Given the description of an element on the screen output the (x, y) to click on. 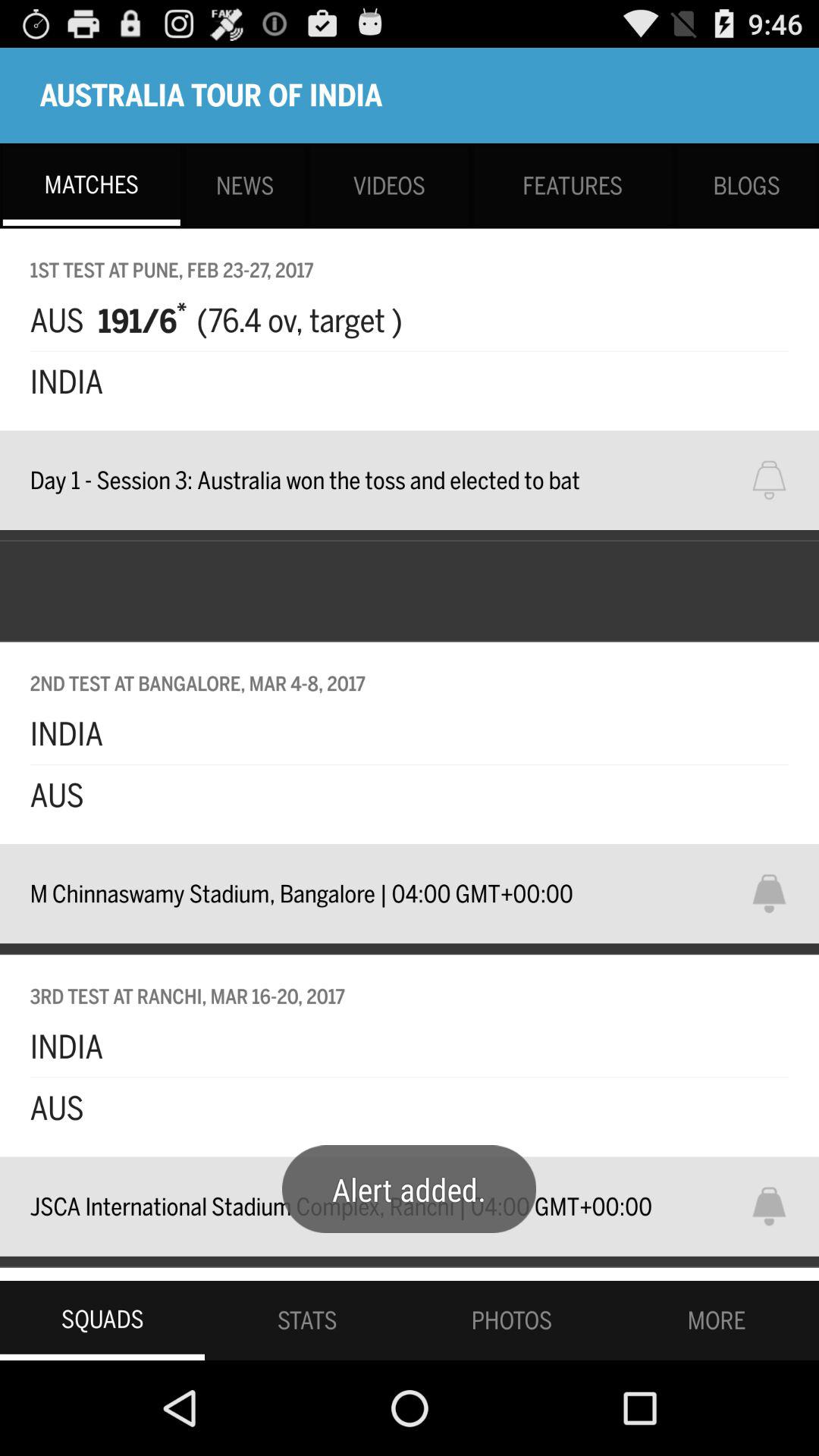
add notification (778, 480)
